Given the description of an element on the screen output the (x, y) to click on. 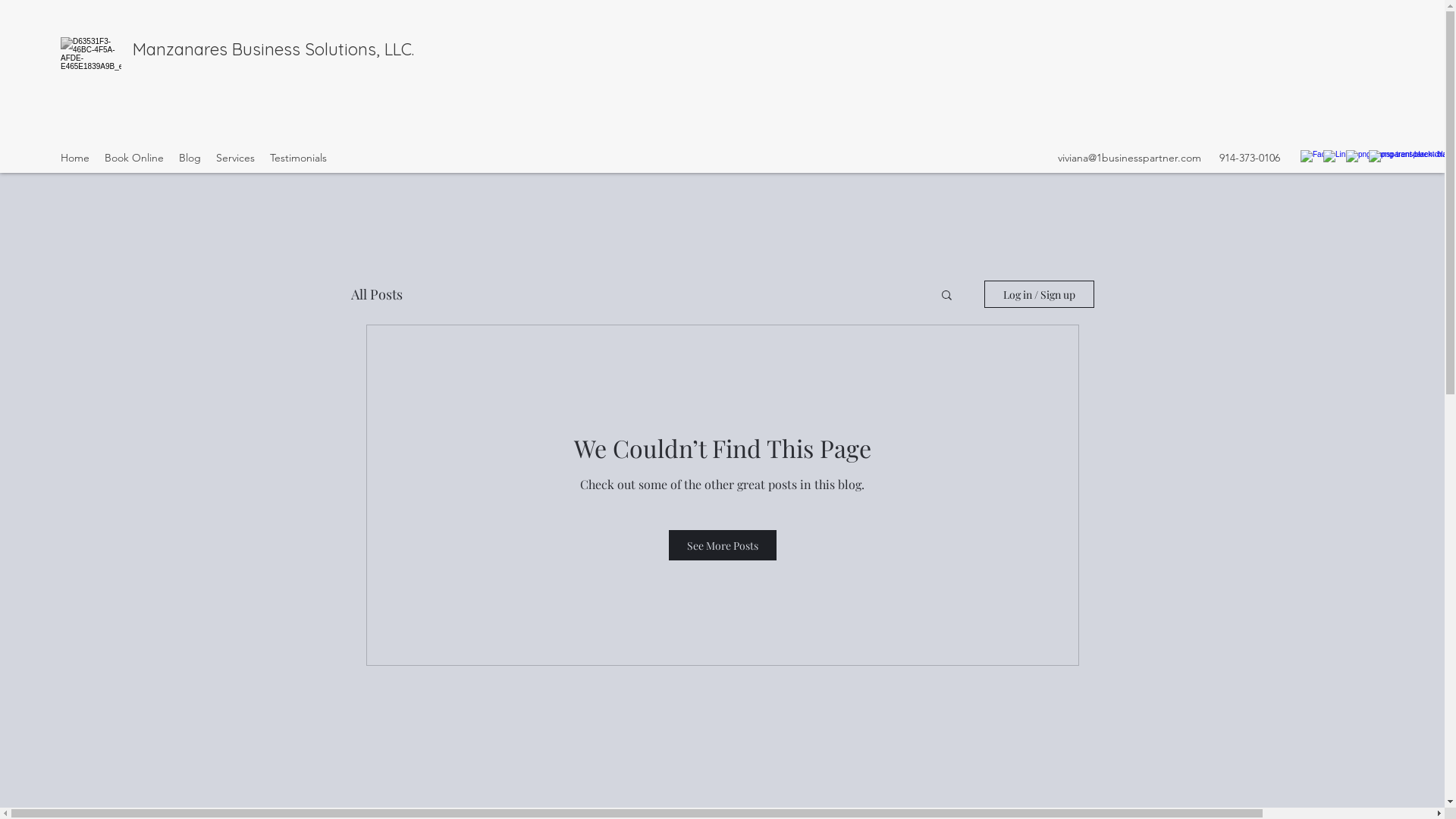
Log in / Sign up Element type: text (1039, 293)
Book Online Element type: text (134, 157)
Testimonials Element type: text (298, 157)
Blog Element type: text (189, 157)
All Posts Element type: text (375, 294)
See More Posts Element type: text (722, 545)
viviana@1businesspartner.com Element type: text (1129, 157)
Home Element type: text (75, 157)
Services Element type: text (235, 157)
